Given the description of an element on the screen output the (x, y) to click on. 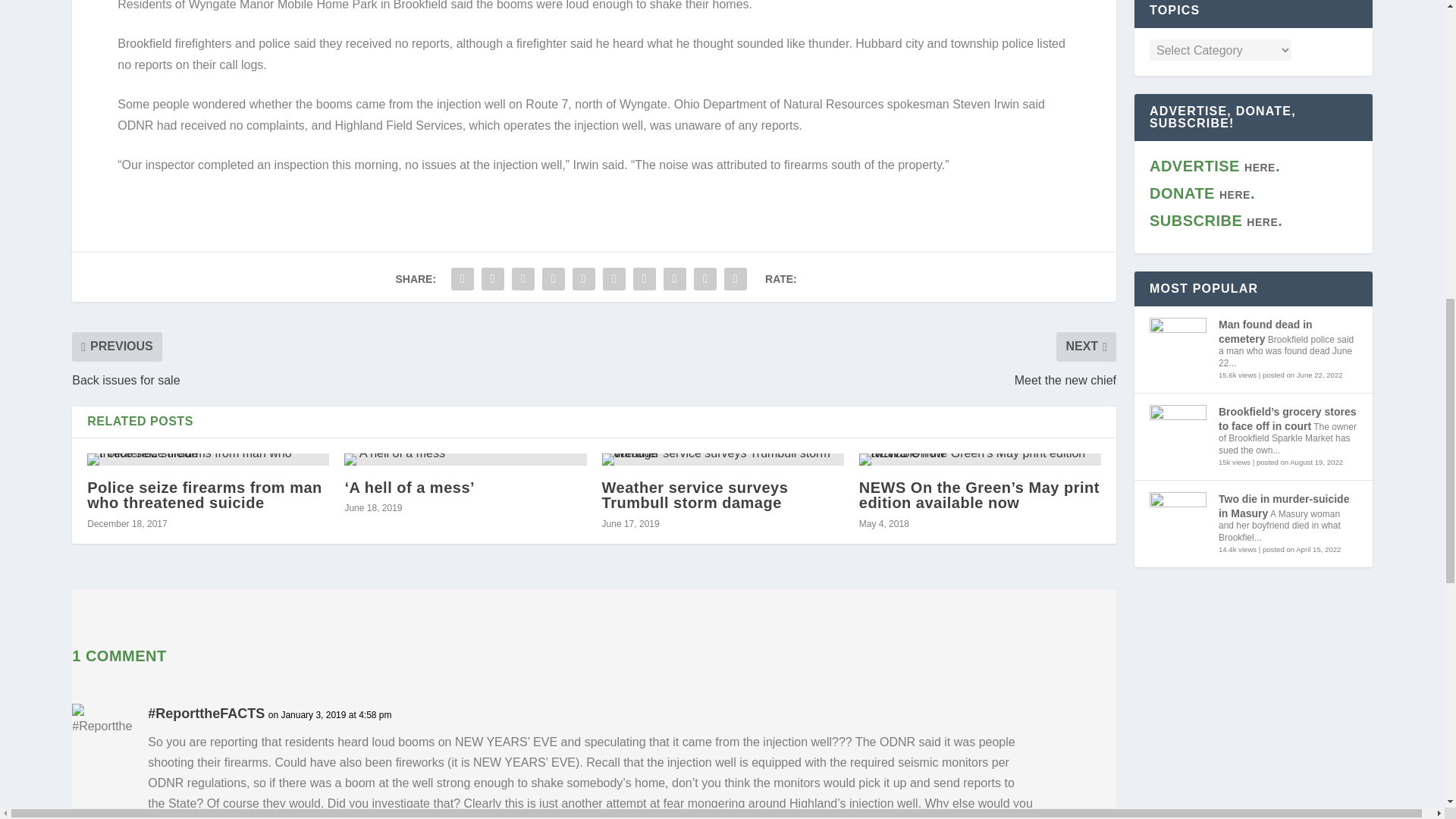
Share "Did you hear NYE booms?" via Tumblr (553, 278)
Share "Did you hear NYE booms?" via Email (705, 278)
Share "Did you hear NYE booms?" via Stumbleupon (674, 278)
Police seize firearms from man who threatened suicide (208, 459)
Share "Did you hear NYE booms?" via Pinterest (583, 278)
Share "Did you hear NYE booms?" via Buffer (643, 278)
Share "Did you hear NYE booms?" via LinkedIn (613, 278)
Share "Did you hear NYE booms?" via Print (735, 278)
Share "Did you hear NYE booms?" via Facebook (461, 278)
Share "Did you hear NYE booms?" via Twitter (492, 278)
